Given the description of an element on the screen output the (x, y) to click on. 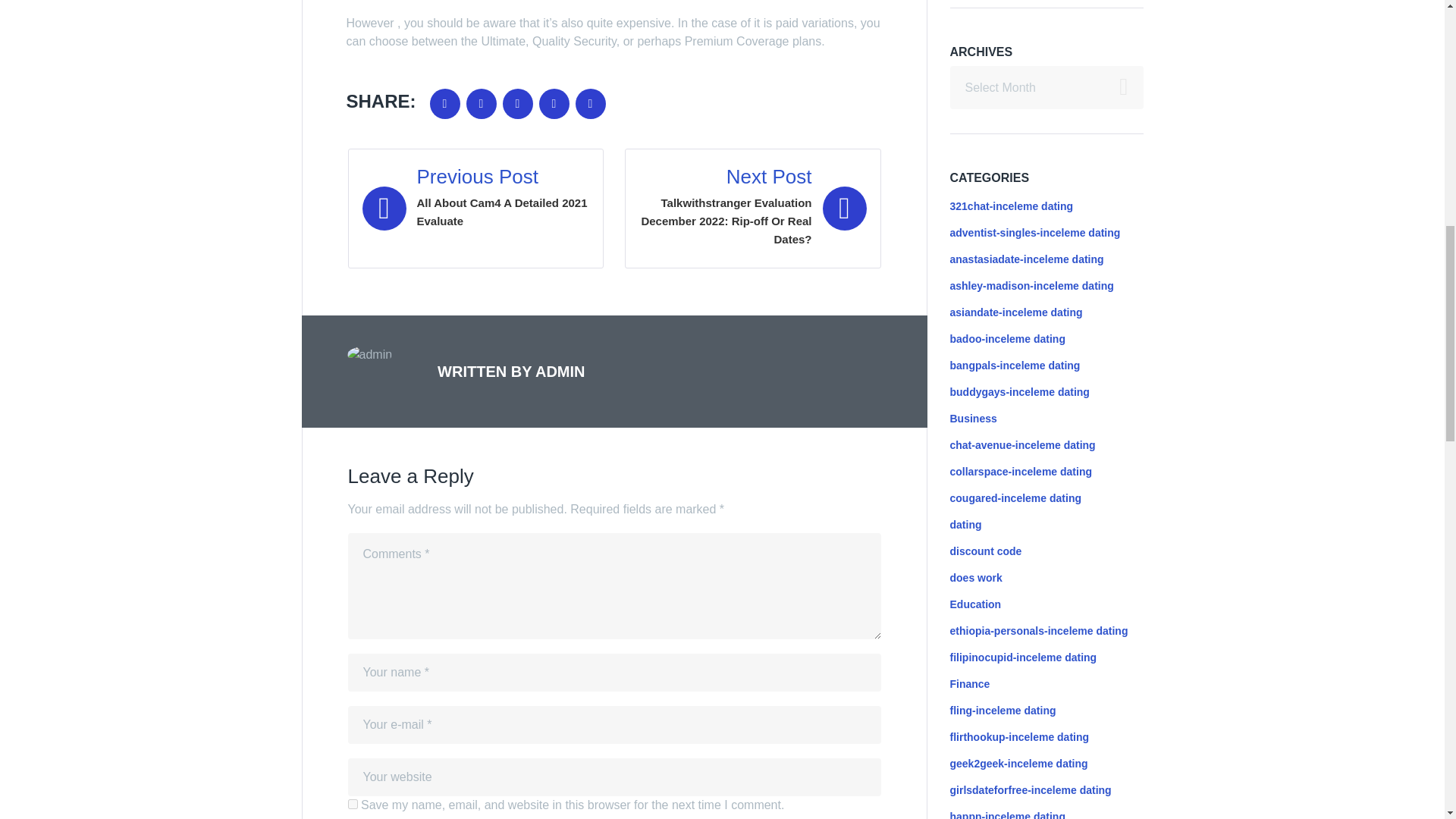
Share on Pinterest (590, 103)
adventist-singles-inceleme dating (1034, 232)
Share on Twitter (480, 103)
321chat-inceleme dating (1011, 205)
Share on LinkedIn (553, 103)
anastasiadate-inceleme dating (1026, 259)
ADMIN (475, 208)
Posts by admin (560, 371)
ashley-madison-inceleme dating (560, 371)
Share on Facebook (1031, 285)
yes (444, 103)
